Given the description of an element on the screen output the (x, y) to click on. 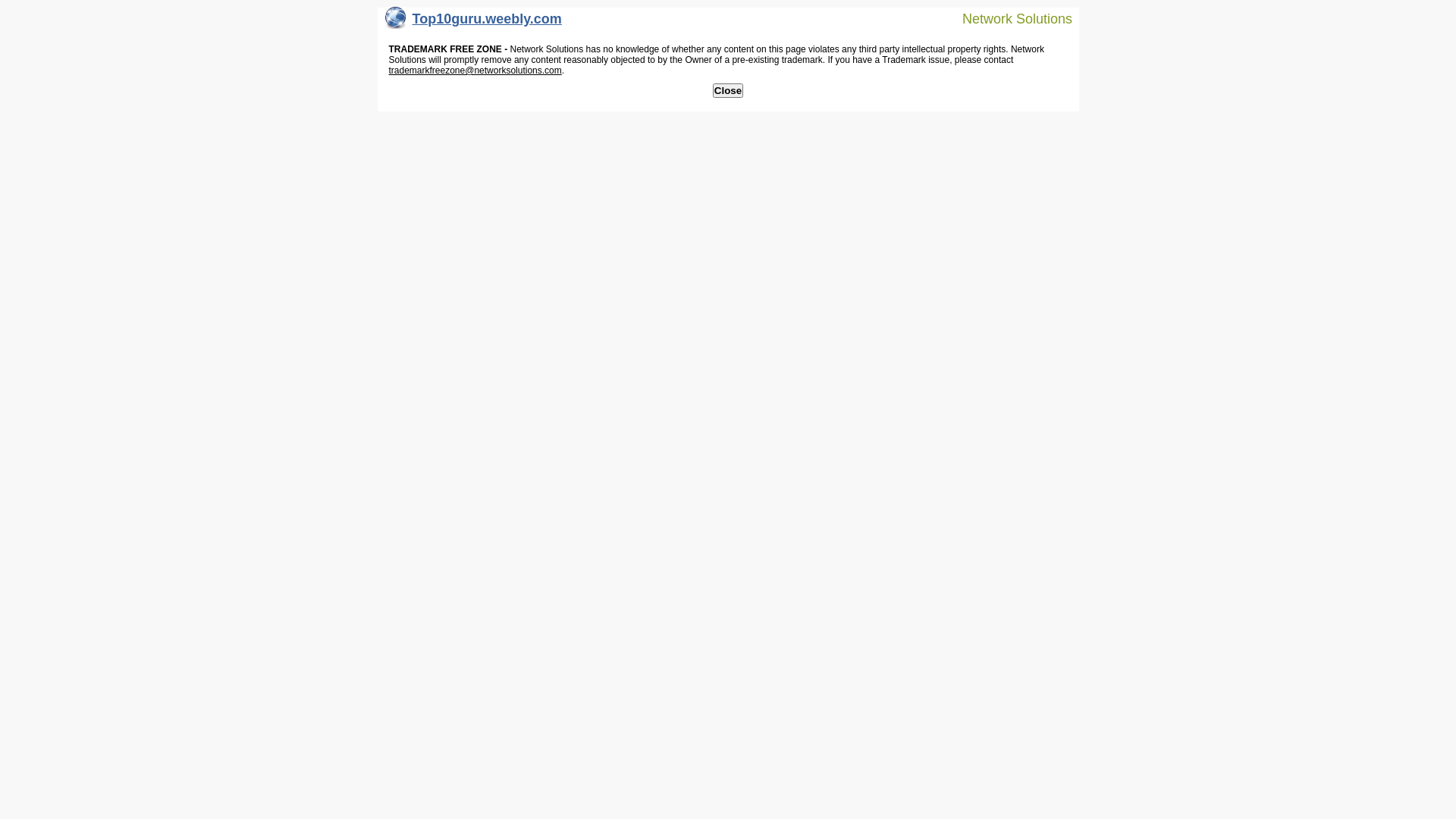
Top10guru.weebly.com Element type: text (473, 21)
Network Solutions Element type: text (1007, 17)
trademarkfreezone@networksolutions.com Element type: text (474, 70)
Close Element type: text (727, 90)
